Given the description of an element on the screen output the (x, y) to click on. 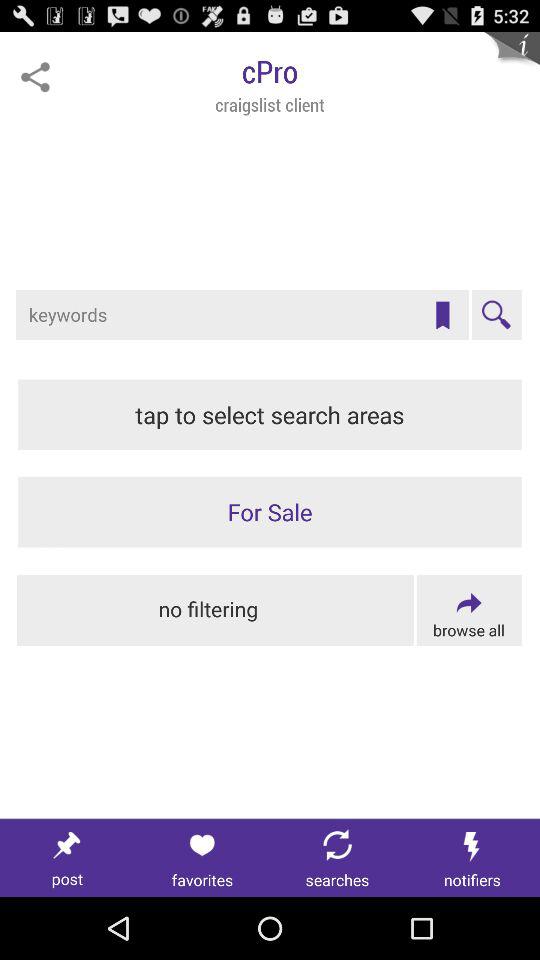
no filtering (215, 610)
